Given the description of an element on the screen output the (x, y) to click on. 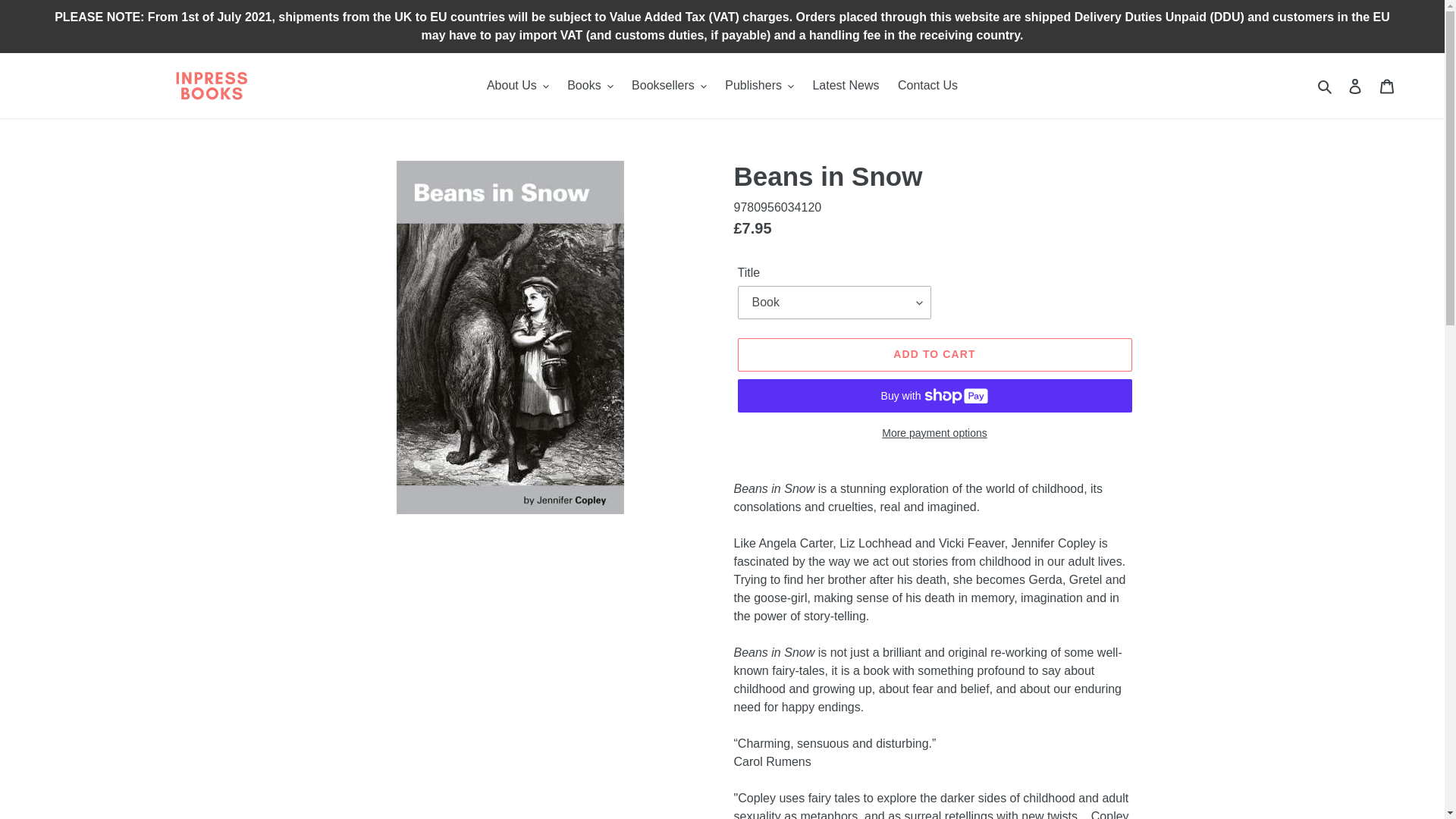
Publishers (759, 85)
Latest News (845, 85)
Books (589, 85)
Booksellers (669, 85)
About Us (517, 85)
